Given the description of an element on the screen output the (x, y) to click on. 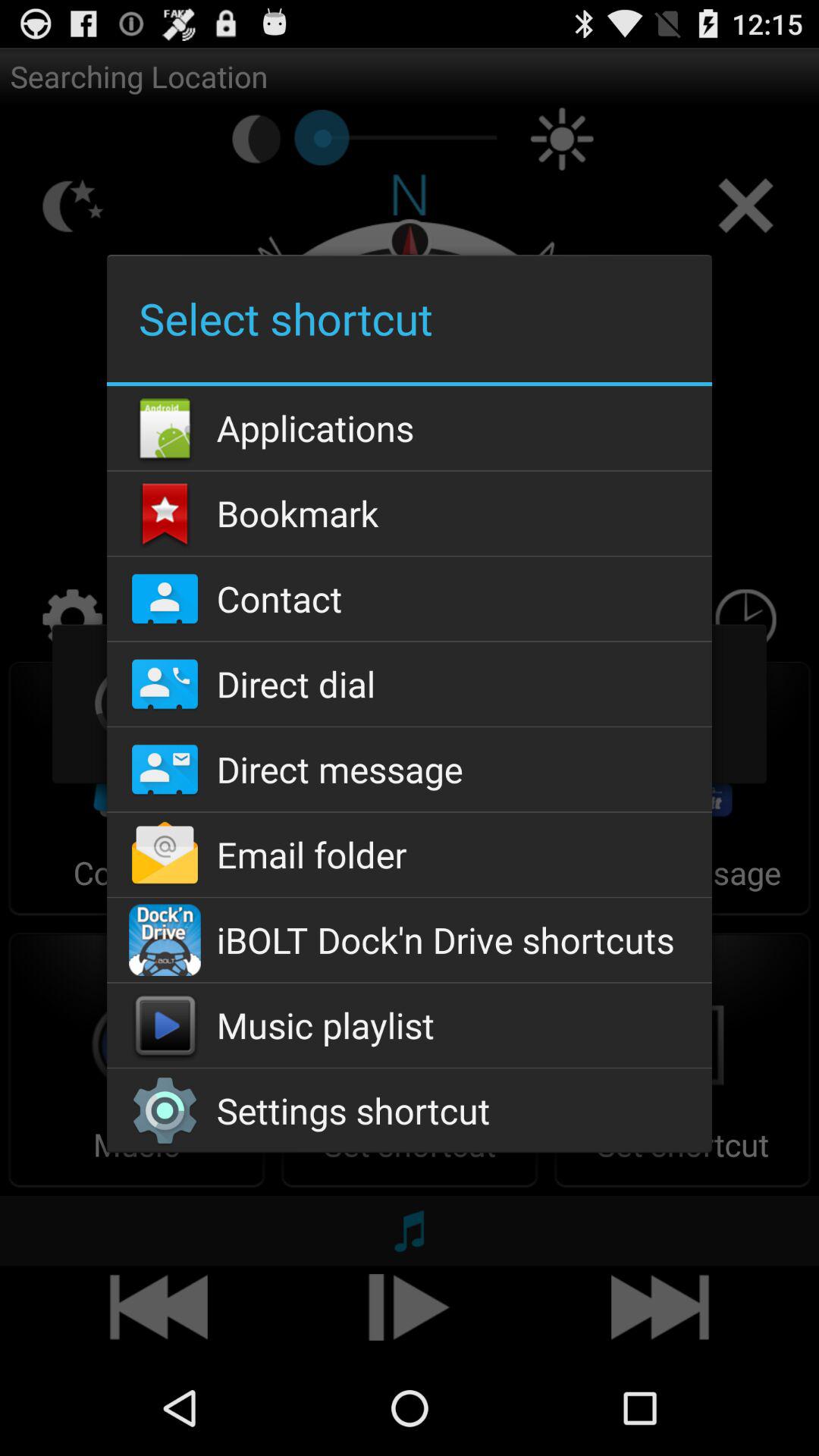
jump until email folder icon (409, 854)
